Given the description of an element on the screen output the (x, y) to click on. 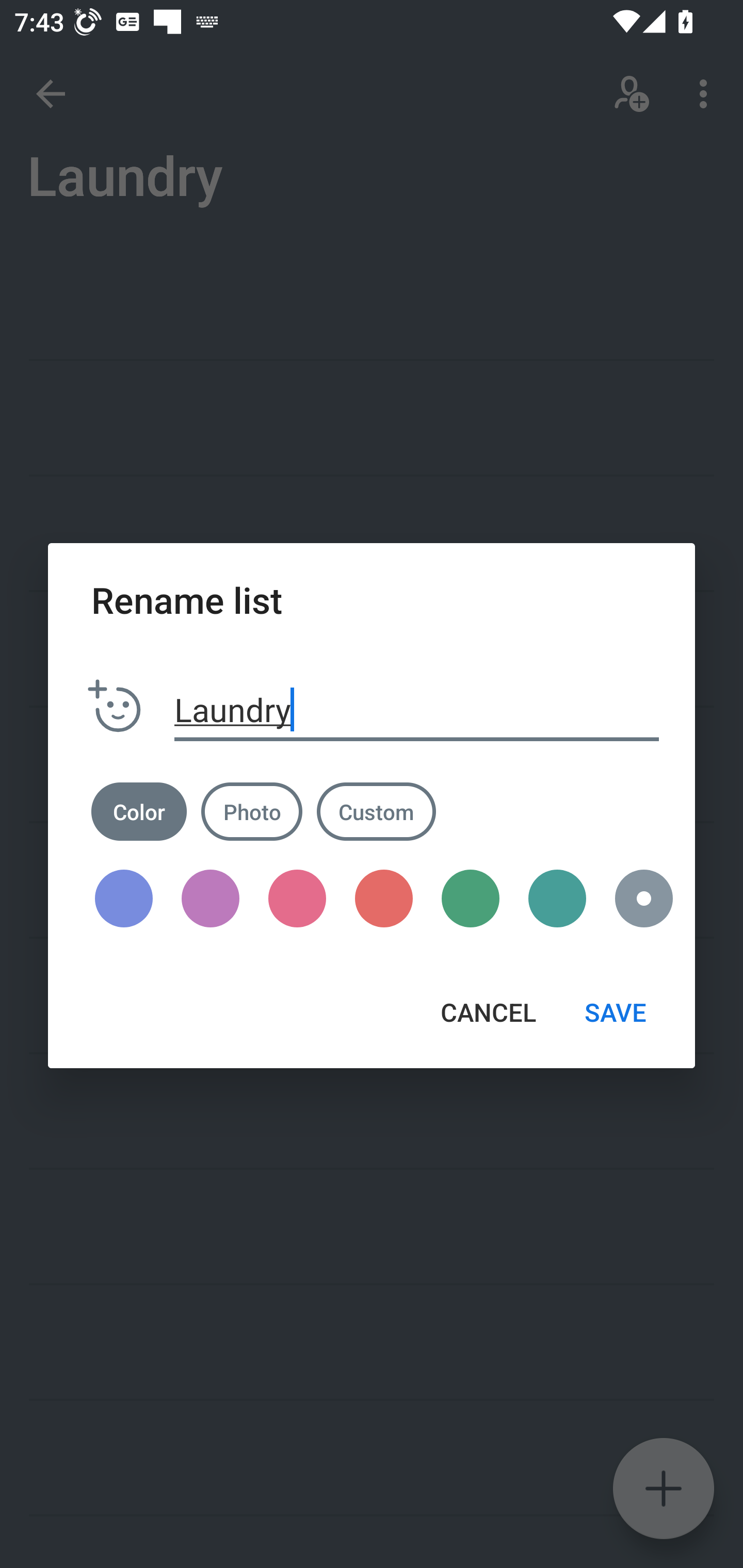
Set Emoji (114, 706)
Laundry (416, 710)
Color Color category (138, 811)
Photo Photo category (251, 811)
Custom Custom category (376, 811)
Dark blue (123, 898)
Dark purple (210, 898)
Dark rose (297, 898)
Dark red (383, 898)
Dark green (470, 898)
Dark teal (557, 898)
Selected, Dark grey (636, 898)
CANCEL (488, 1011)
SAVE (615, 1011)
